Given the description of an element on the screen output the (x, y) to click on. 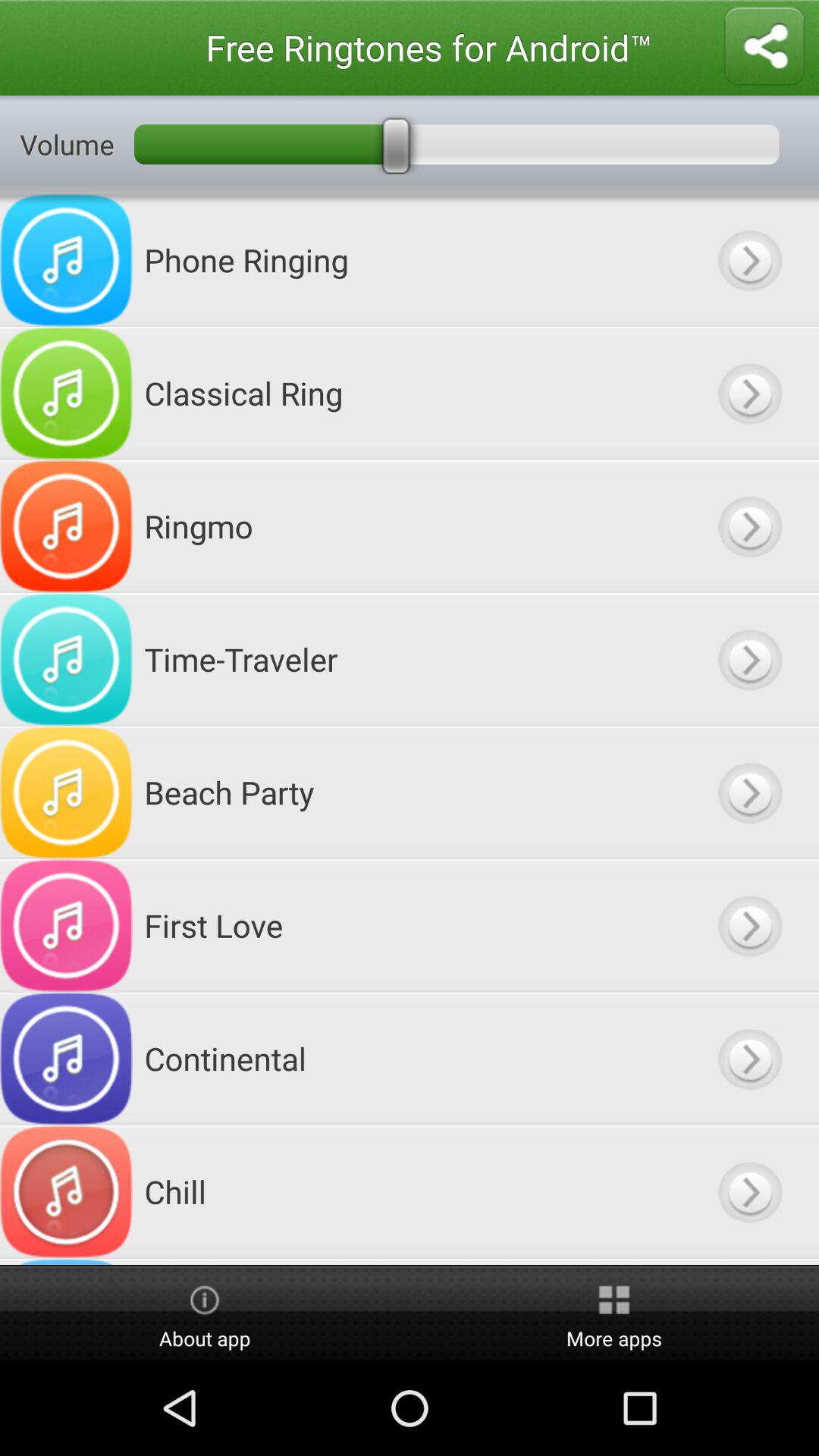
go to next button (749, 792)
